Given the description of an element on the screen output the (x, y) to click on. 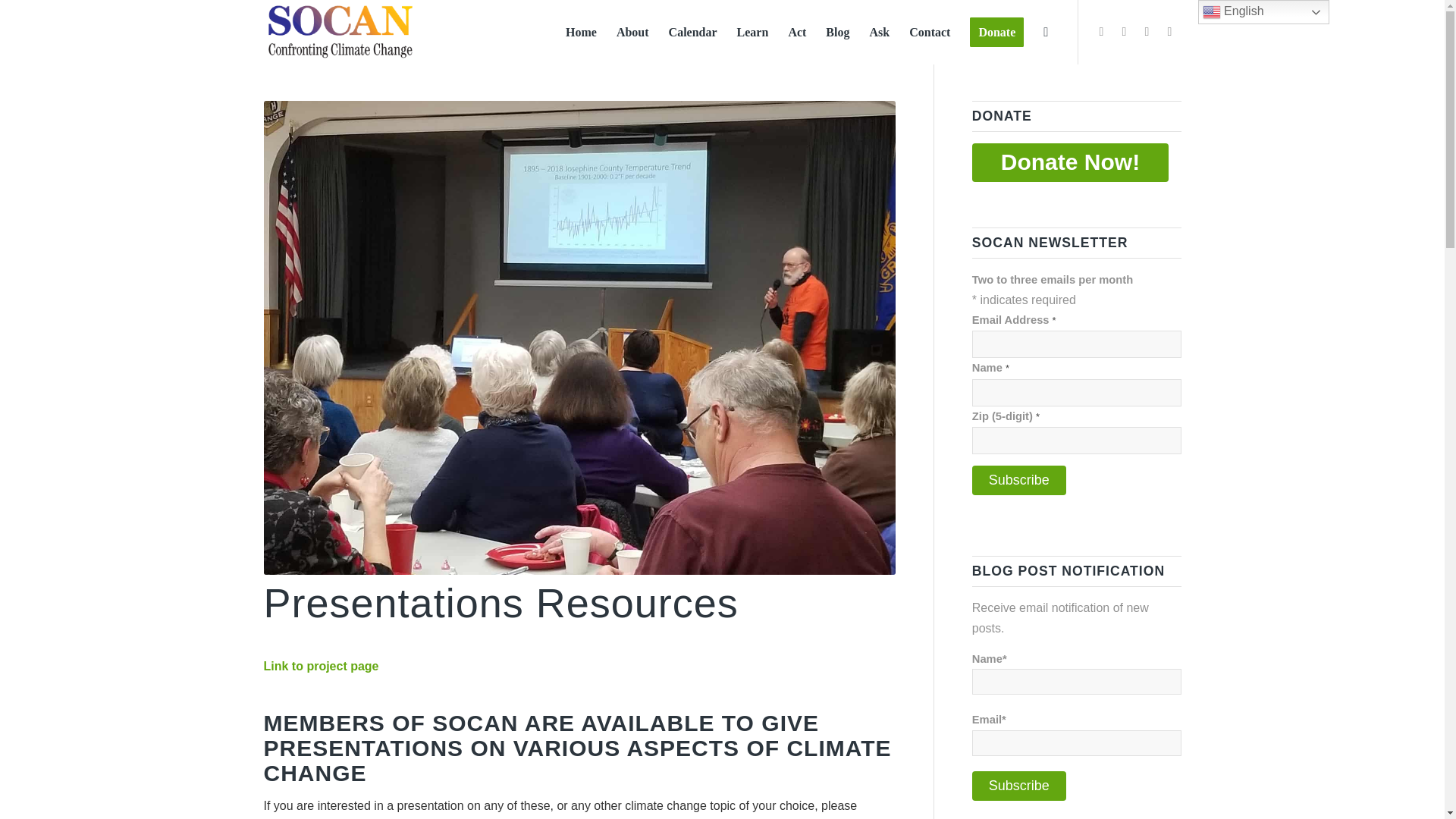
Calendar (692, 32)
Subscribe (1018, 785)
Subscribe (1018, 480)
About (633, 32)
Facebook (1101, 30)
LinkedIn (1124, 30)
Youtube (1169, 30)
Instagram (1146, 30)
Learn (752, 32)
Home (581, 32)
